Given the description of an element on the screen output the (x, y) to click on. 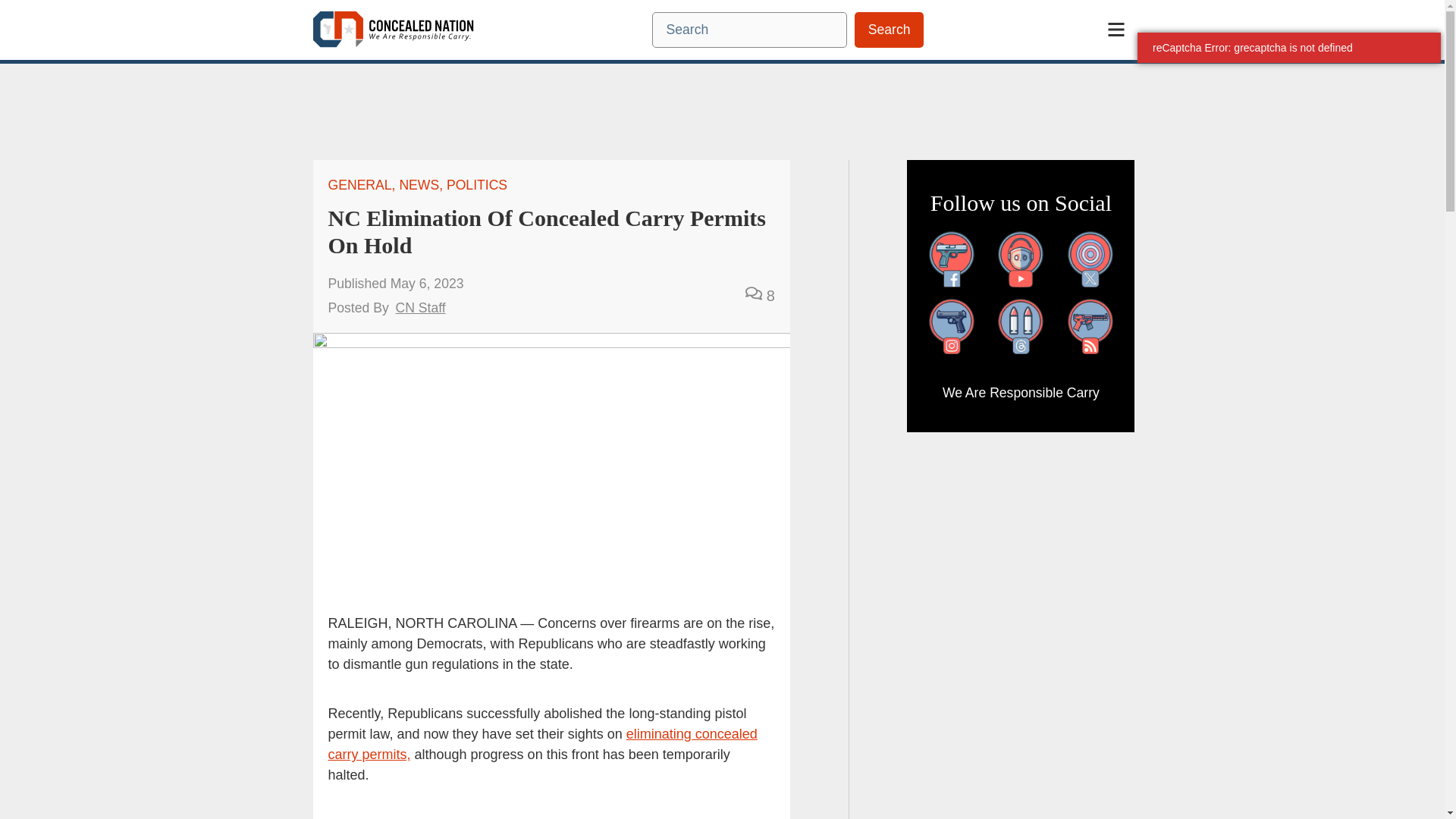
eliminating concealed carry permits, (542, 744)
Search (888, 29)
POLITICS (476, 184)
CN Staff (420, 307)
GENERAL (359, 184)
8 (770, 295)
Number of Comments (759, 295)
NEWS (418, 184)
